Given the description of an element on the screen output the (x, y) to click on. 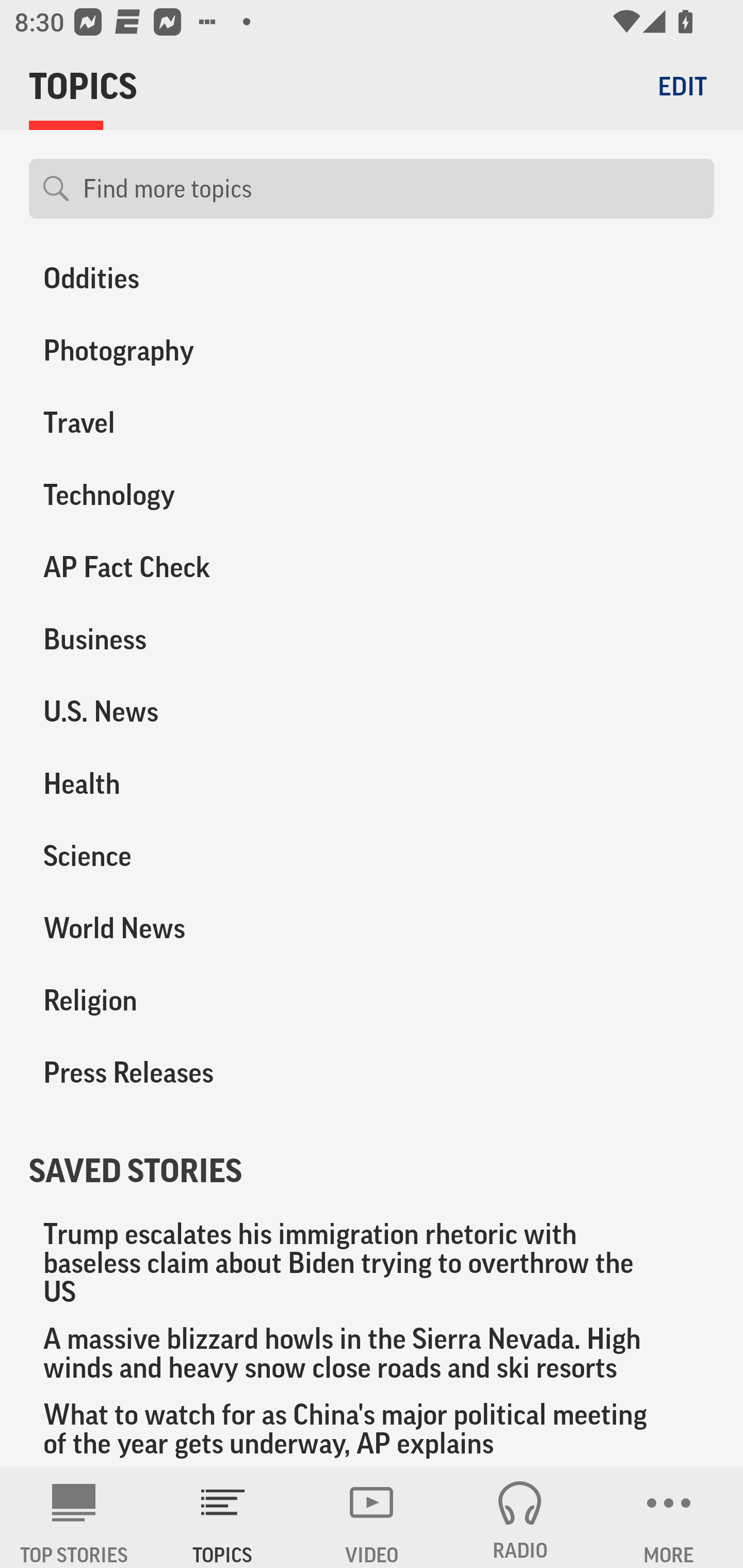
EDIT (682, 86)
Find more topics (391, 188)
Oddities (185, 281)
Photography (185, 351)
Travel (185, 423)
Technology (185, 495)
AP Fact Check (185, 567)
Business (185, 639)
U.S. News (185, 711)
Health (185, 783)
Science (185, 856)
World News (185, 928)
Religion (185, 1000)
Press Releases (185, 1072)
AP News TOP STORIES (74, 1517)
TOPICS (222, 1517)
VIDEO (371, 1517)
RADIO (519, 1517)
MORE (668, 1517)
